Given the description of an element on the screen output the (x, y) to click on. 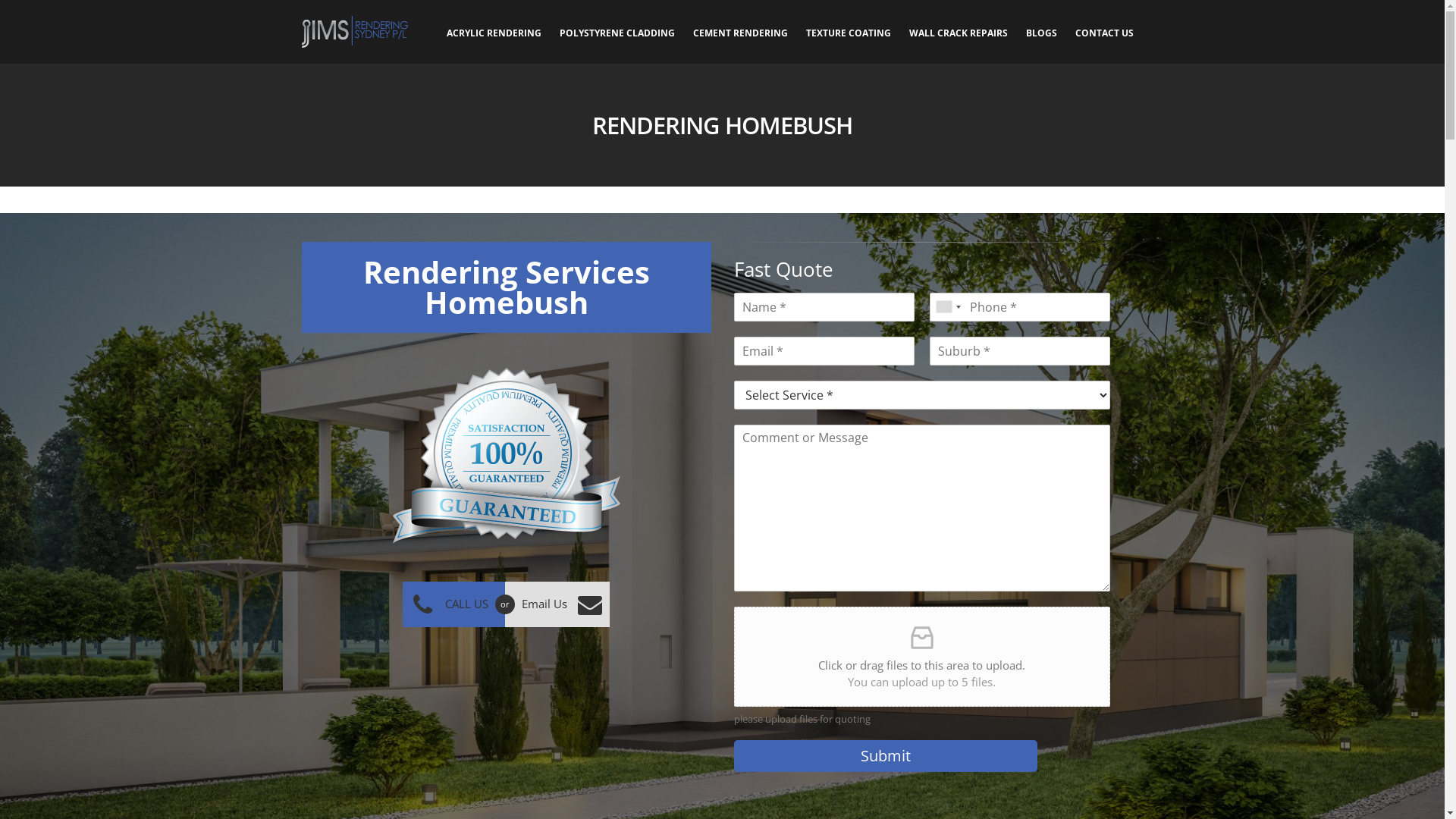
Submit Element type: text (885, 755)
ACRYLIC RENDERING Element type: text (493, 31)
TEXTURE COATING Element type: text (848, 31)
WALL CRACK REPAIRS Element type: text (958, 31)
CONTACT US Element type: text (1104, 31)
CALL US Element type: text (453, 604)
BLOGS Element type: text (1041, 31)
CEMENT RENDERING Element type: text (740, 31)
POLYSTYRENE CLADDING Element type: text (617, 31)
Email Us Element type: text (557, 604)
